Given the description of an element on the screen output the (x, y) to click on. 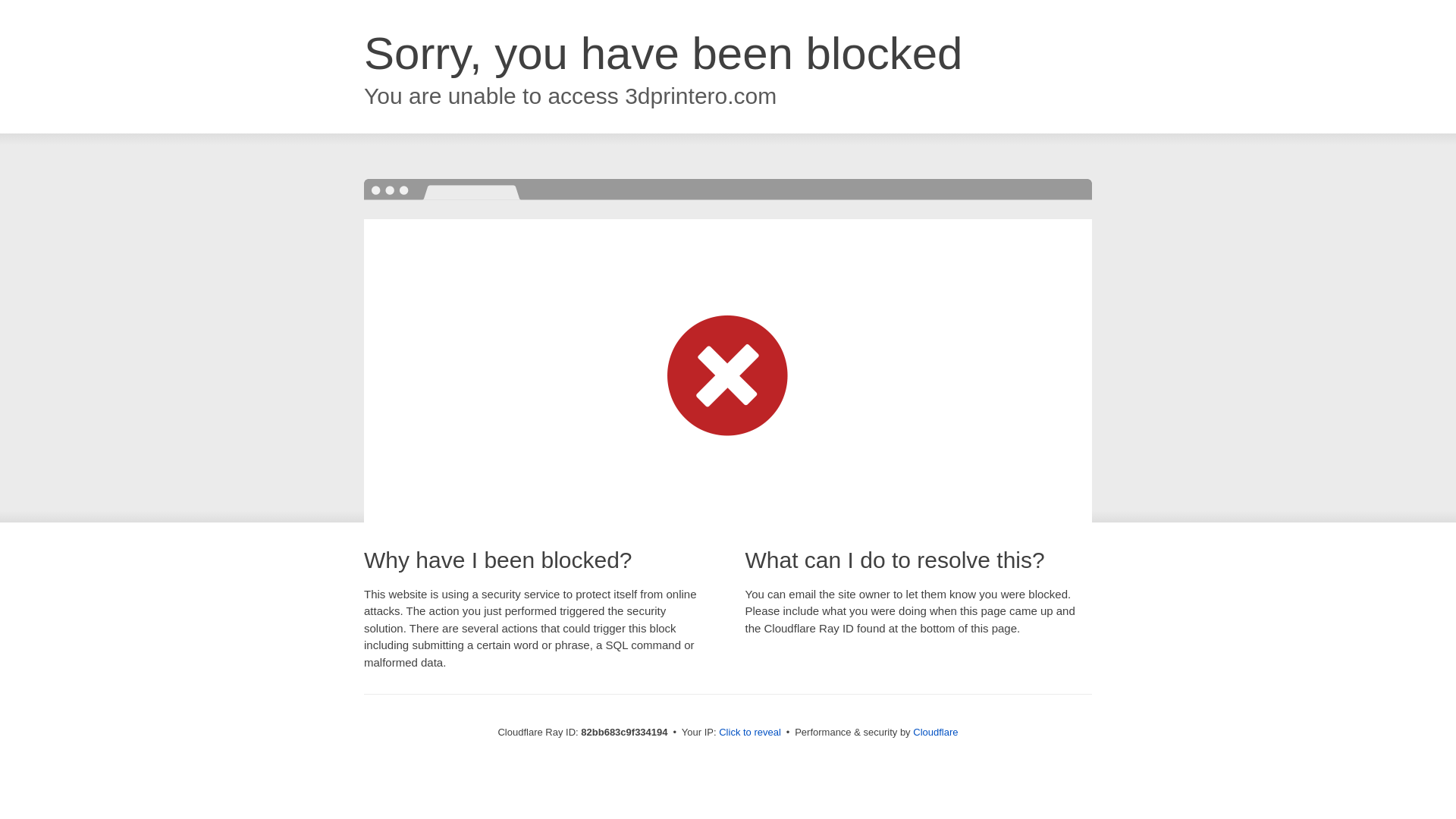
Cloudflare Element type: text (935, 731)
Click to reveal Element type: text (749, 732)
